Given the description of an element on the screen output the (x, y) to click on. 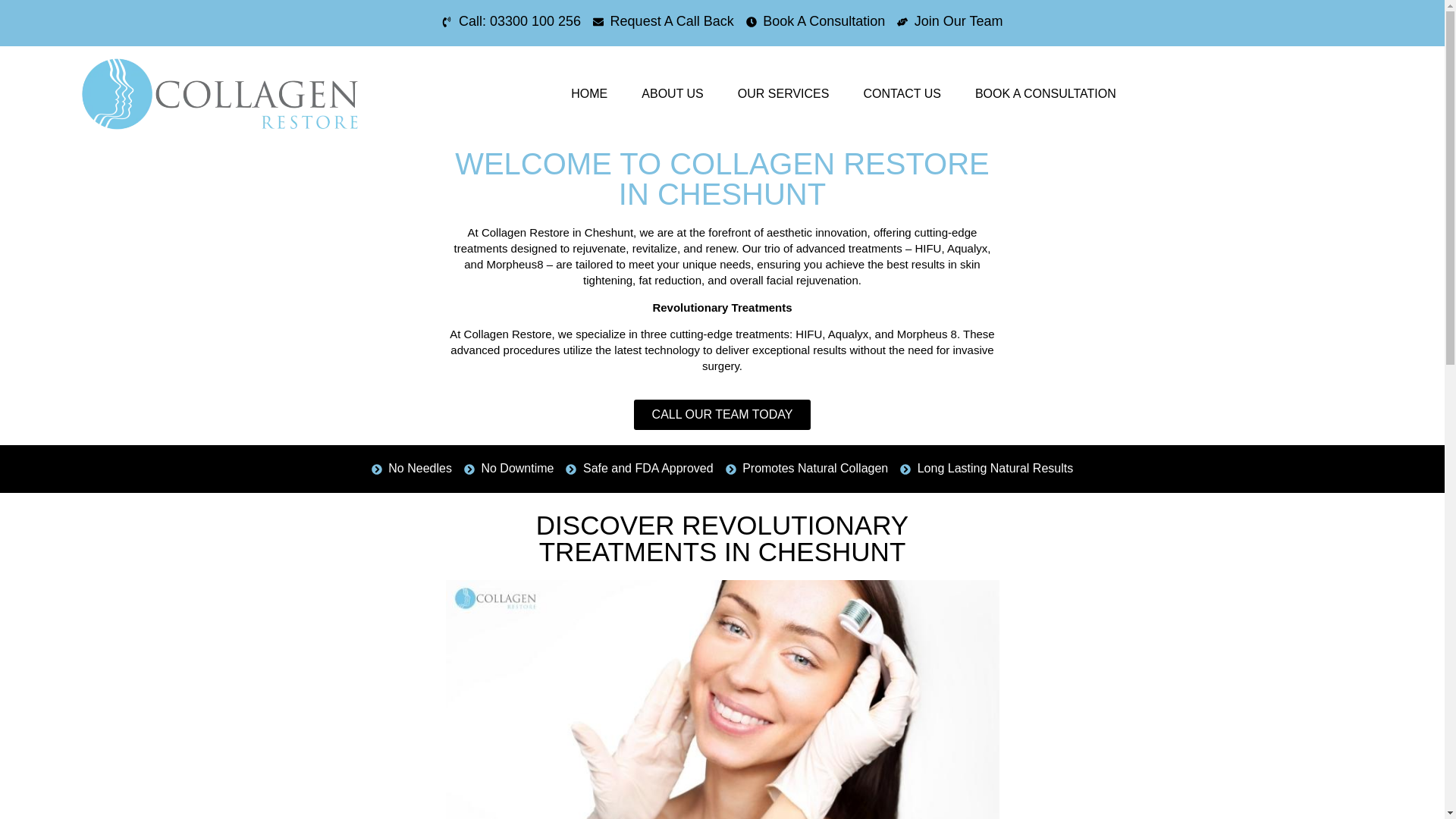
BOOK A CONSULTATION (1045, 93)
Safe and FDA Approved (639, 468)
HOME (589, 93)
Request A Call Back (662, 21)
OUR SERVICES (783, 93)
HIFU Cheshunt 1 (721, 699)
CONTACT US (901, 93)
Join Our Team (949, 21)
CALL OUR TEAM TODAY (721, 414)
ABOUT US (672, 93)
